Given the description of an element on the screen output the (x, y) to click on. 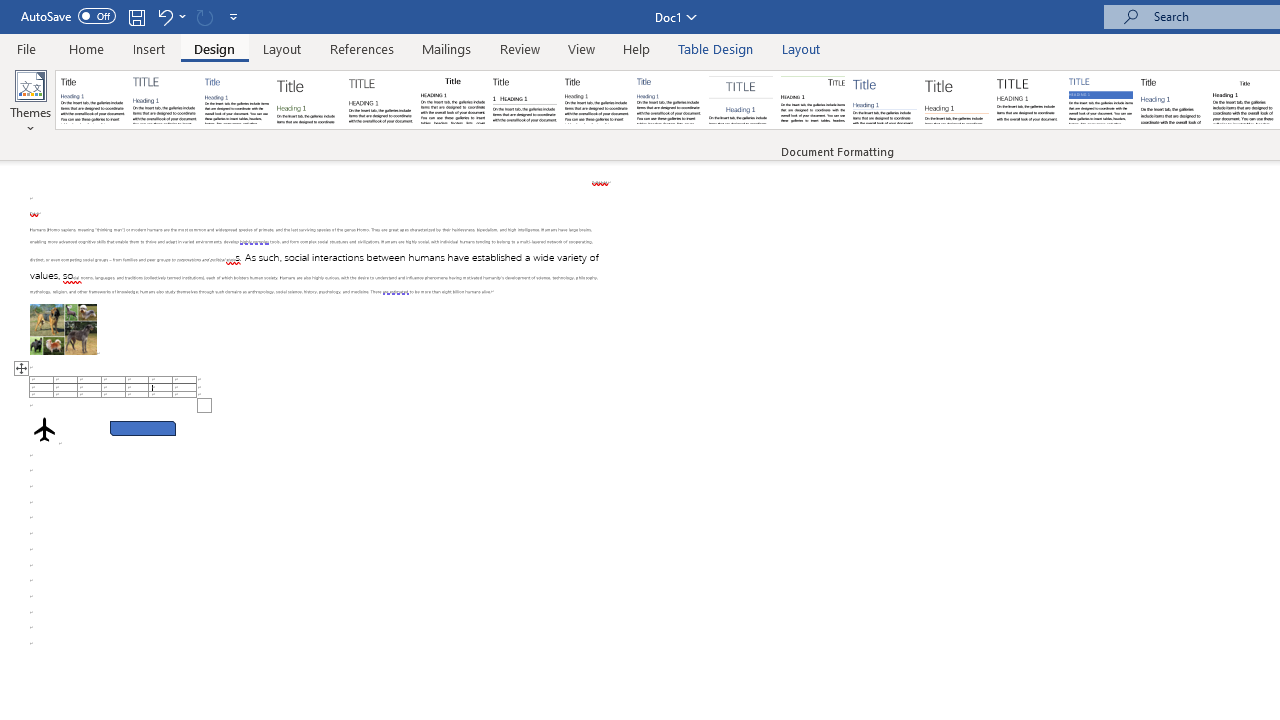
Lines (Distinctive) (812, 100)
Minimalist (1028, 100)
Can't Repeat (204, 15)
Airplane with solid fill (43, 429)
Document (93, 100)
Word (1172, 100)
Undo Apply Quick Style Set (170, 15)
